Given the description of an element on the screen output the (x, y) to click on. 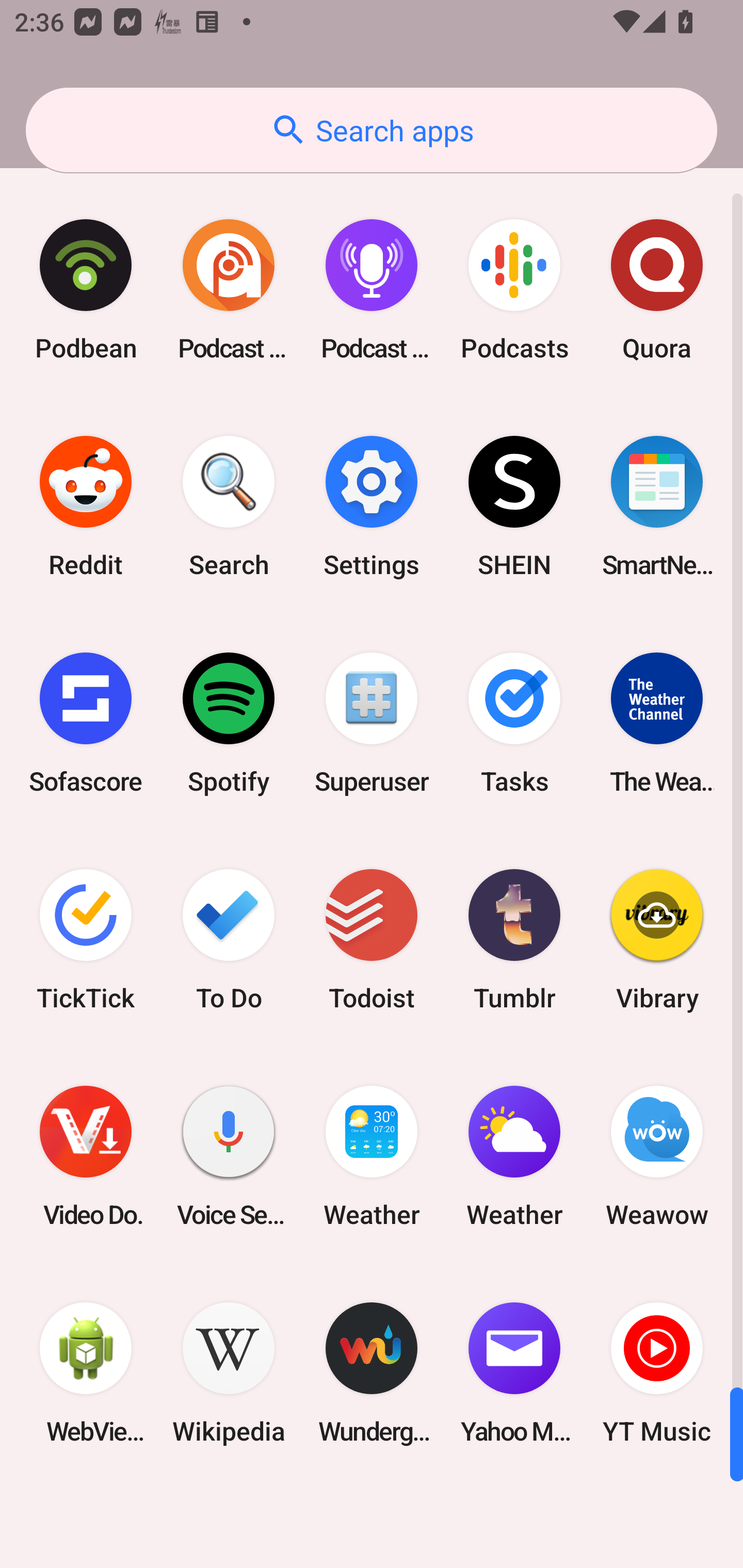
  Search apps (371, 130)
Podbean (85, 289)
Podcast Addict (228, 289)
Podcast Player (371, 289)
Podcasts (514, 289)
Quora (656, 289)
Reddit (85, 506)
Search (228, 506)
Settings (371, 506)
SHEIN (514, 506)
SmartNews (656, 506)
Sofascore (85, 722)
Spotify (228, 722)
Superuser (371, 722)
Tasks (514, 722)
The Weather Channel (656, 722)
TickTick (85, 939)
To Do (228, 939)
Todoist (371, 939)
Tumblr (514, 939)
Vibrary (656, 939)
Video Downloader & Ace Player (85, 1156)
Voice Search (228, 1156)
Weather (371, 1156)
Weather (514, 1156)
Weawow (656, 1156)
WebView Browser Tester (85, 1373)
Wikipedia (228, 1373)
Wunderground (371, 1373)
Yahoo Mail (514, 1373)
YT Music (656, 1373)
